Given the description of an element on the screen output the (x, y) to click on. 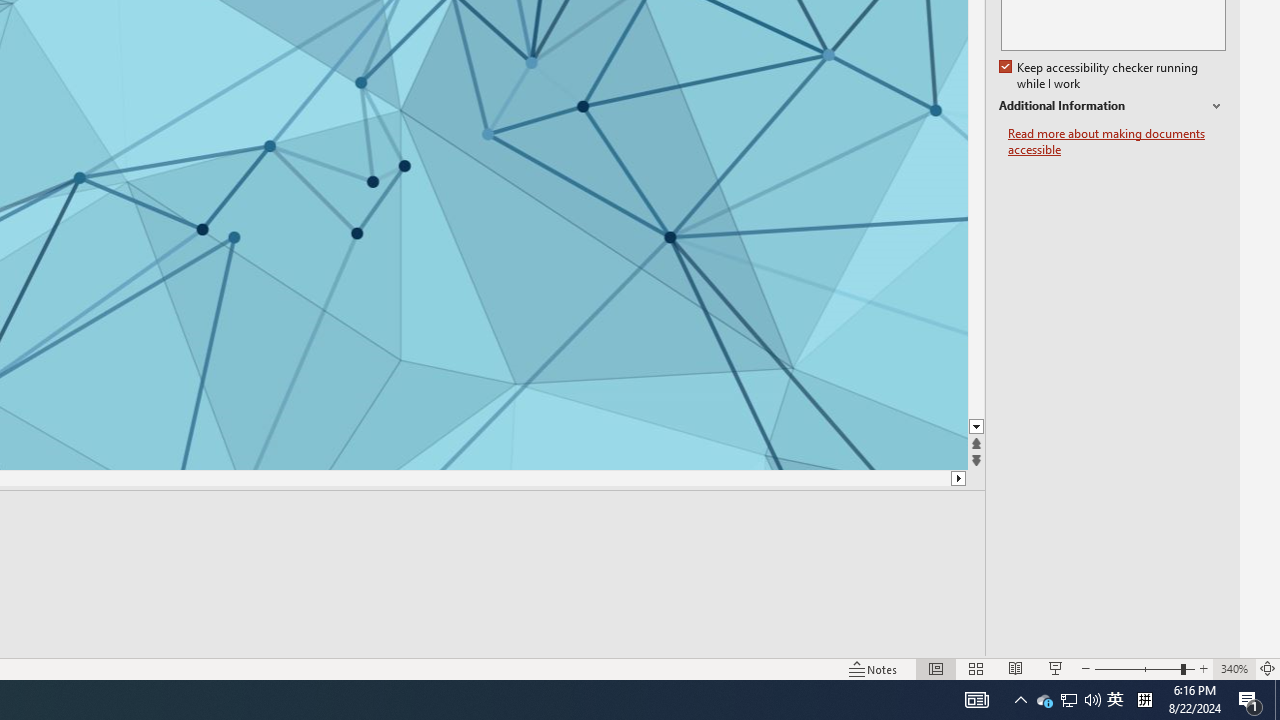
Zoom 340% (1234, 668)
Read more about making documents accessible (1117, 142)
Additional Information (1112, 106)
Keep accessibility checker running while I work (1099, 76)
